Given the description of an element on the screen output the (x, y) to click on. 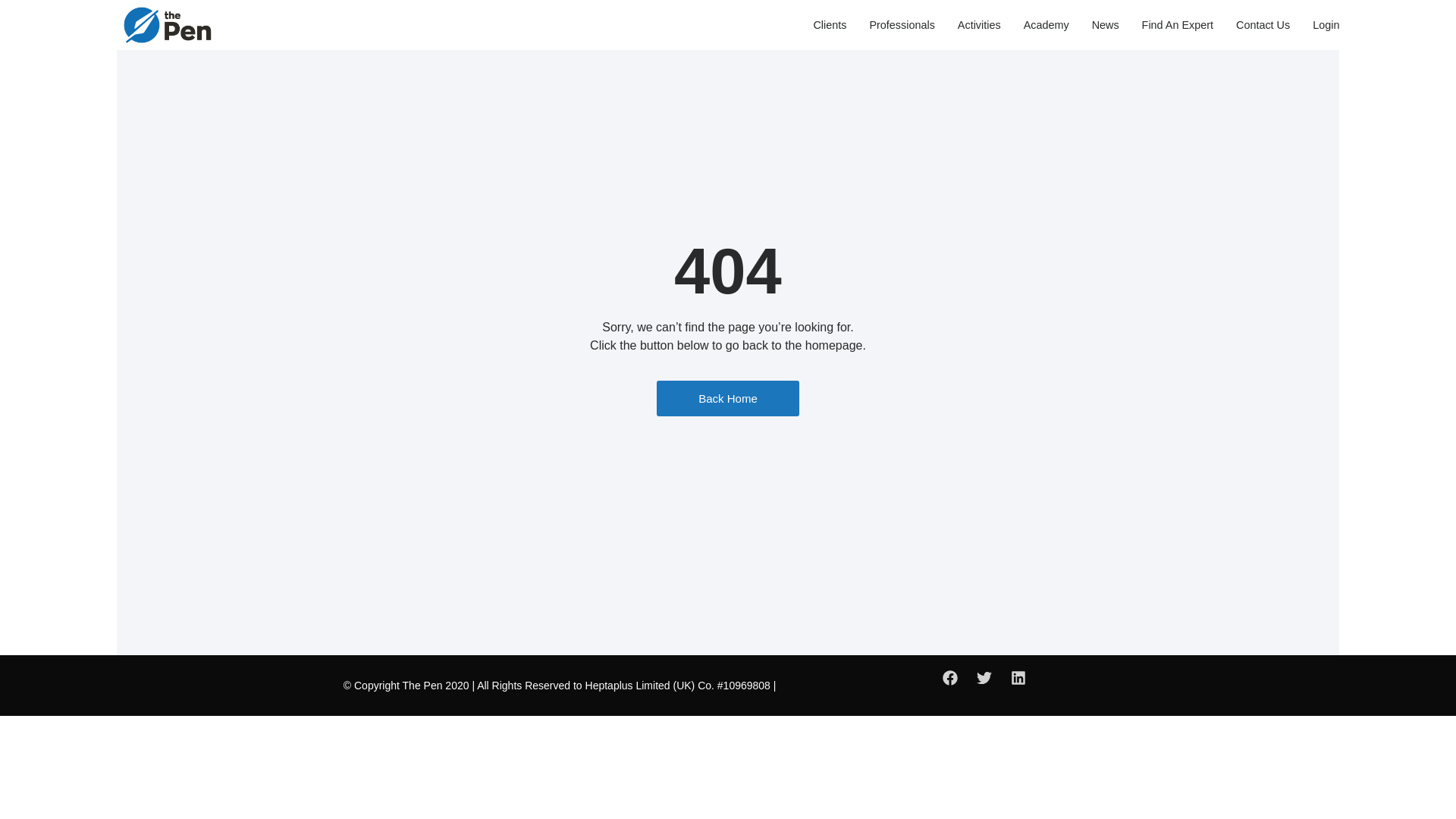
Professionals (901, 24)
Contact Us (1263, 24)
Find An Expert (1176, 24)
Academy (1045, 24)
